Given the description of an element on the screen output the (x, y) to click on. 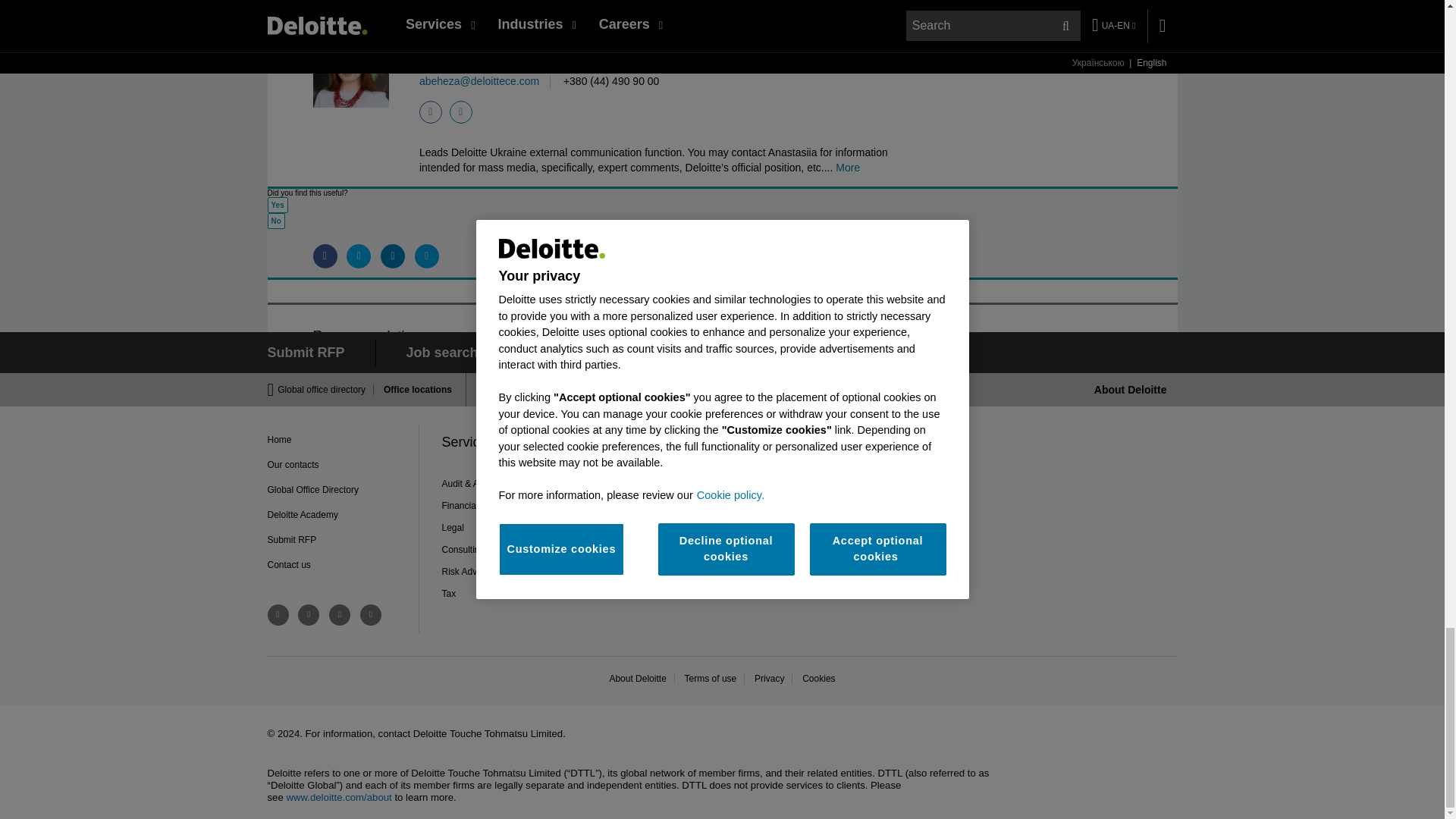
Office locations (413, 389)
Send via email (426, 256)
Share via Twitter (358, 256)
About Deloitte (1130, 389)
Share via Facebook (324, 256)
deloitte ukraine (277, 614)
Facebook (430, 111)
deloitte ukraine (308, 614)
Share via Linkedin (392, 256)
Global office directory (326, 389)
